Given the description of an element on the screen output the (x, y) to click on. 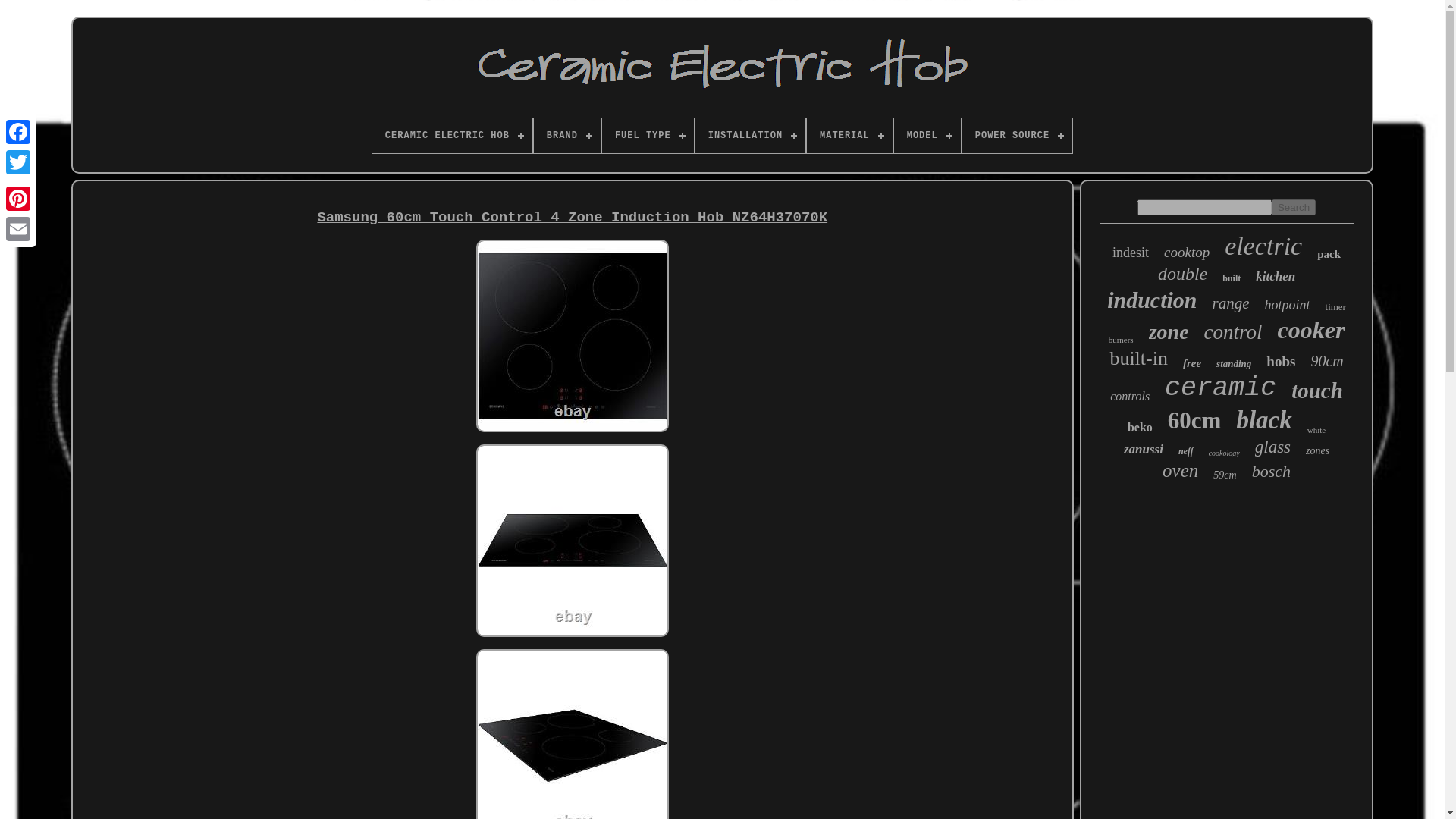
CERAMIC ELECTRIC HOB (452, 135)
FUEL TYPE (648, 135)
BRAND (566, 135)
Samsung 60cm Touch Control 4 Zone Induction Hob NZ64H37070K (572, 335)
Samsung 60cm Touch Control 4 Zone Induction Hob NZ64H37070K (572, 540)
Search (1293, 207)
Samsung 60cm Touch Control 4 Zone Induction Hob NZ64H37070K (572, 734)
